Given the description of an element on the screen output the (x, y) to click on. 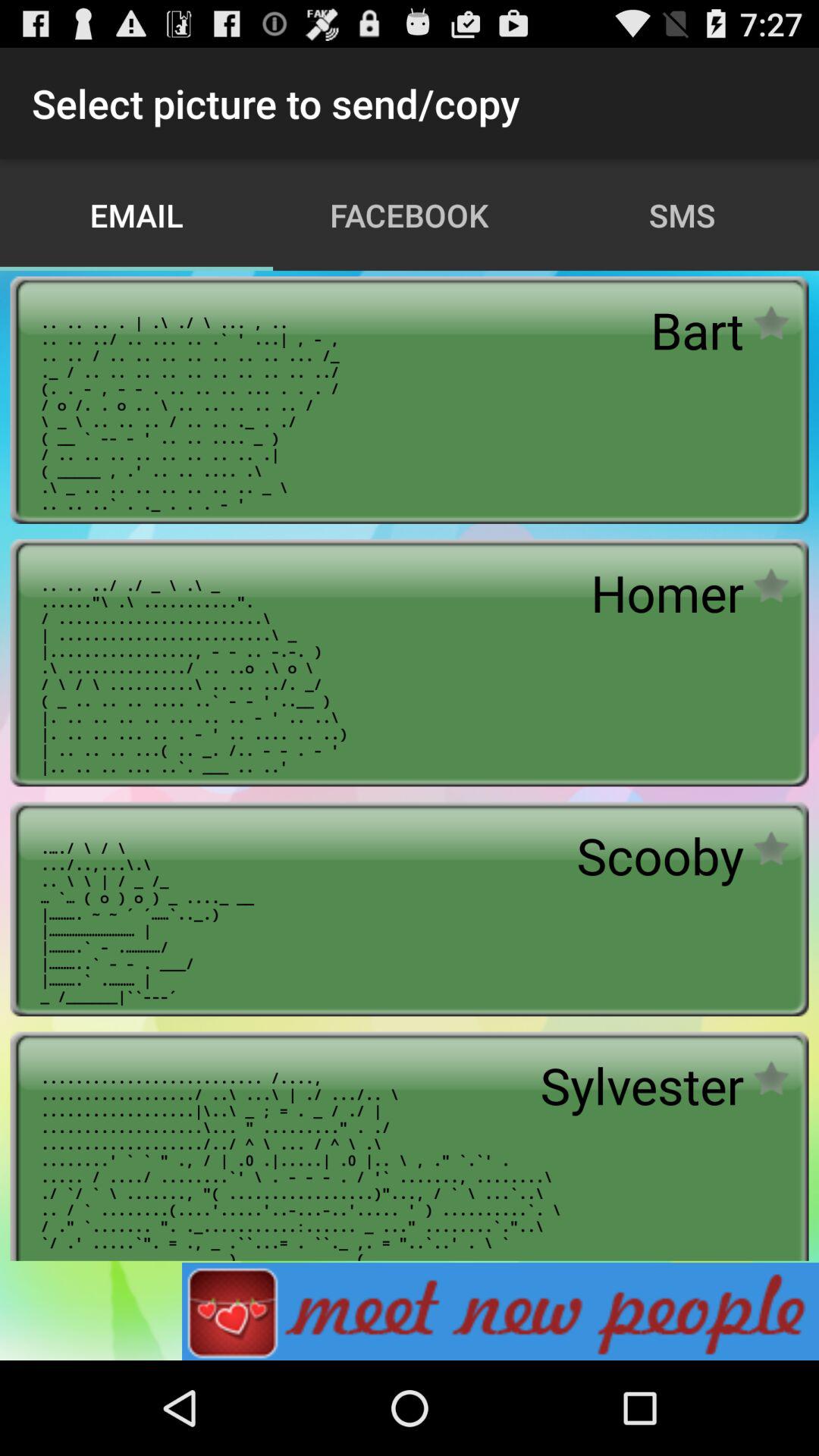
press meet new people (500, 1311)
